Given the description of an element on the screen output the (x, y) to click on. 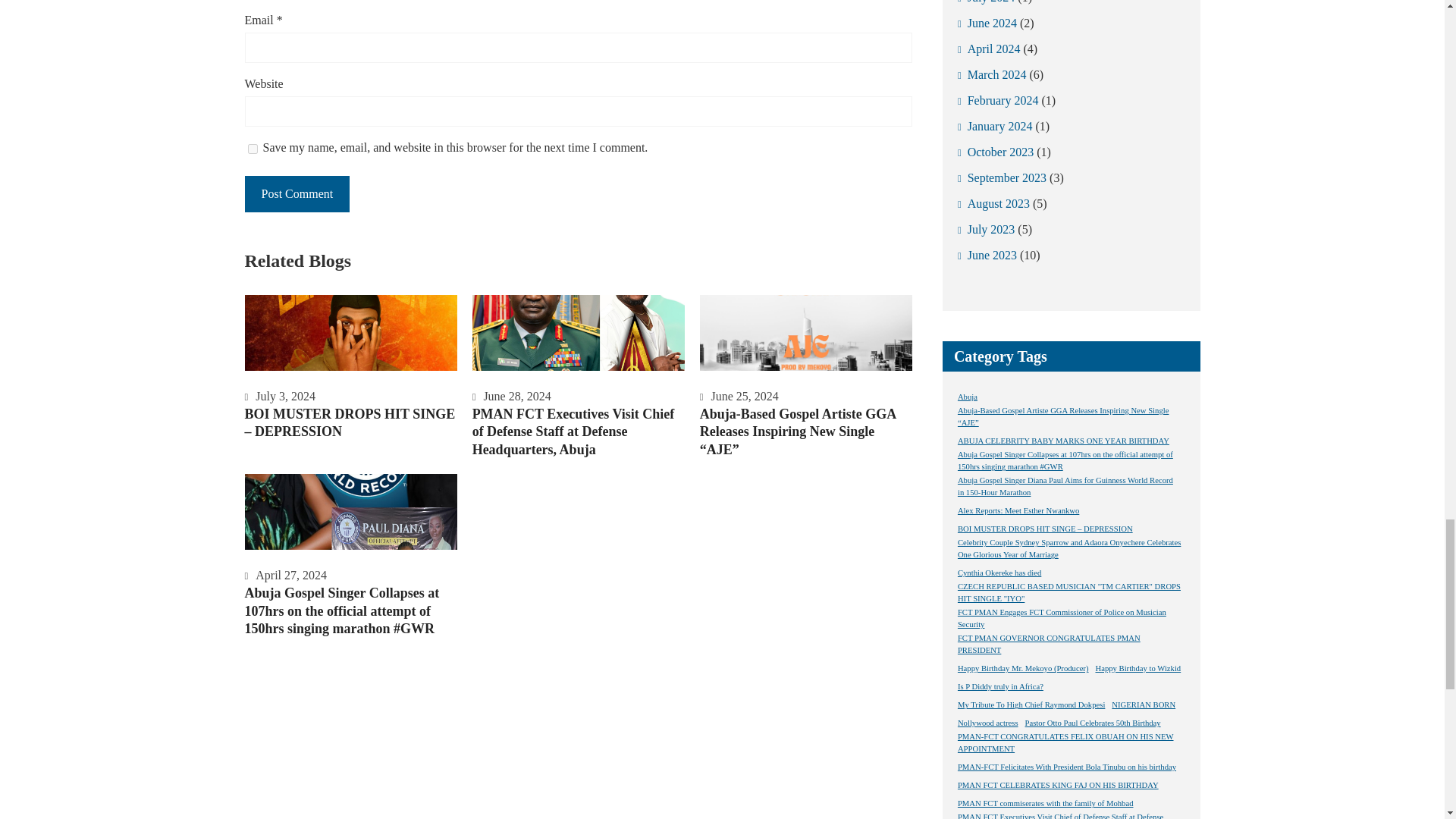
Post Comment (296, 194)
Post Comment (296, 194)
July 2024 (986, 5)
